Given the description of an element on the screen output the (x, y) to click on. 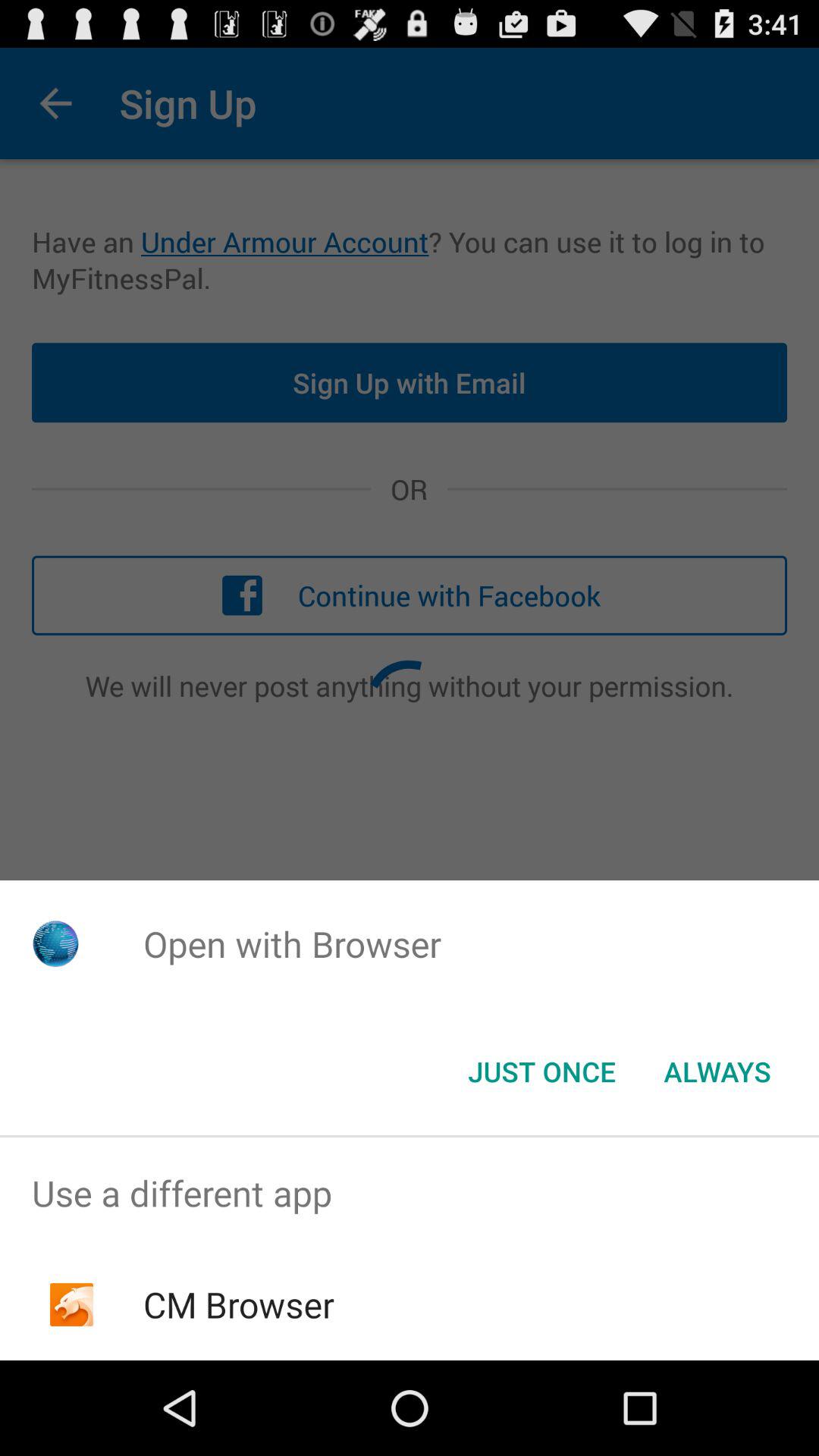
scroll to the just once (541, 1071)
